Given the description of an element on the screen output the (x, y) to click on. 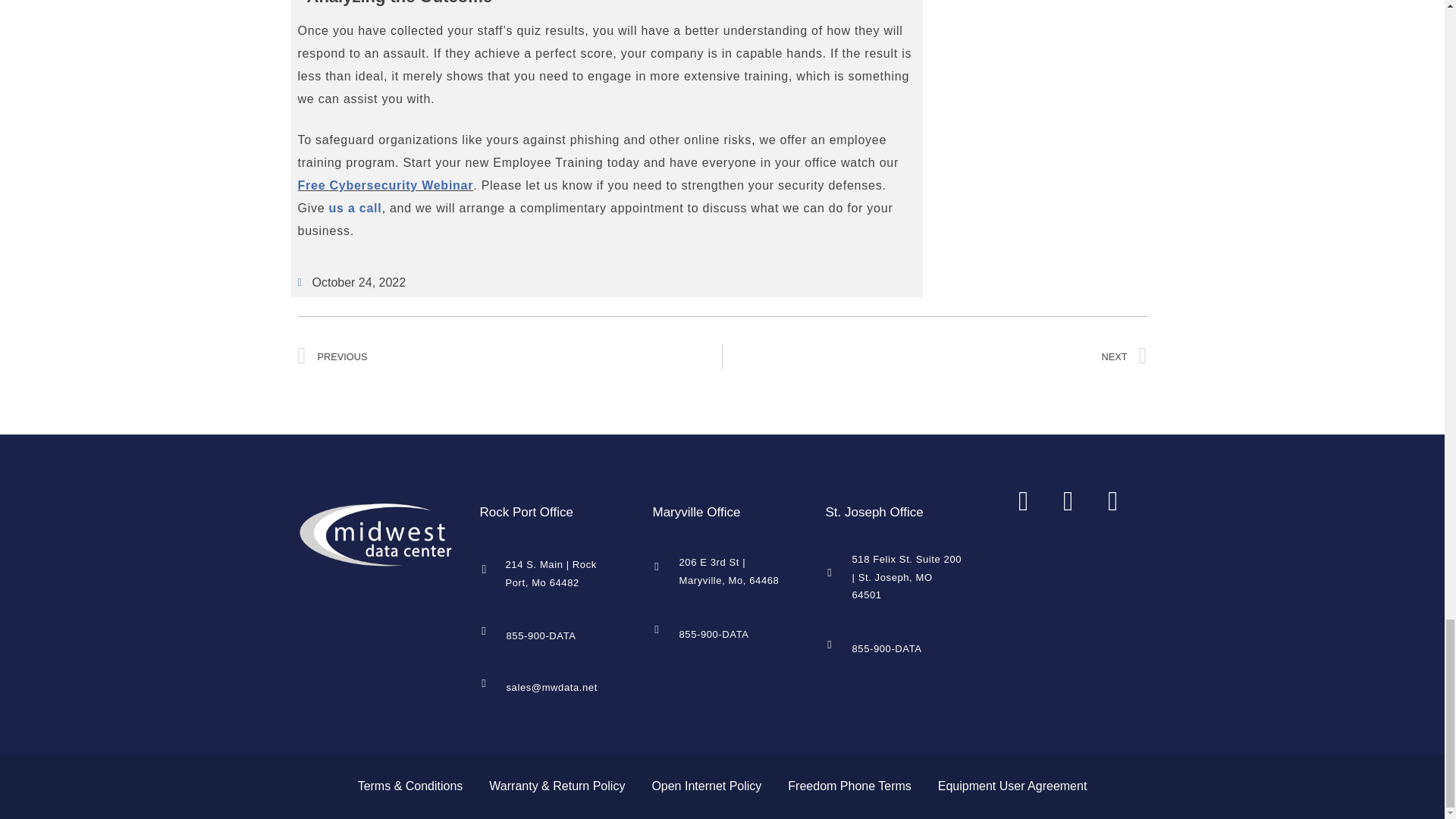
Free Cybersecurity Webinar (385, 185)
PREVIOUS (509, 356)
us a call (355, 207)
Freedom Phone Terms (848, 786)
NEXT (934, 356)
Open Internet Policy (706, 786)
October 24, 2022 (351, 282)
Equipment User Agreement (1012, 786)
